Given the description of an element on the screen output the (x, y) to click on. 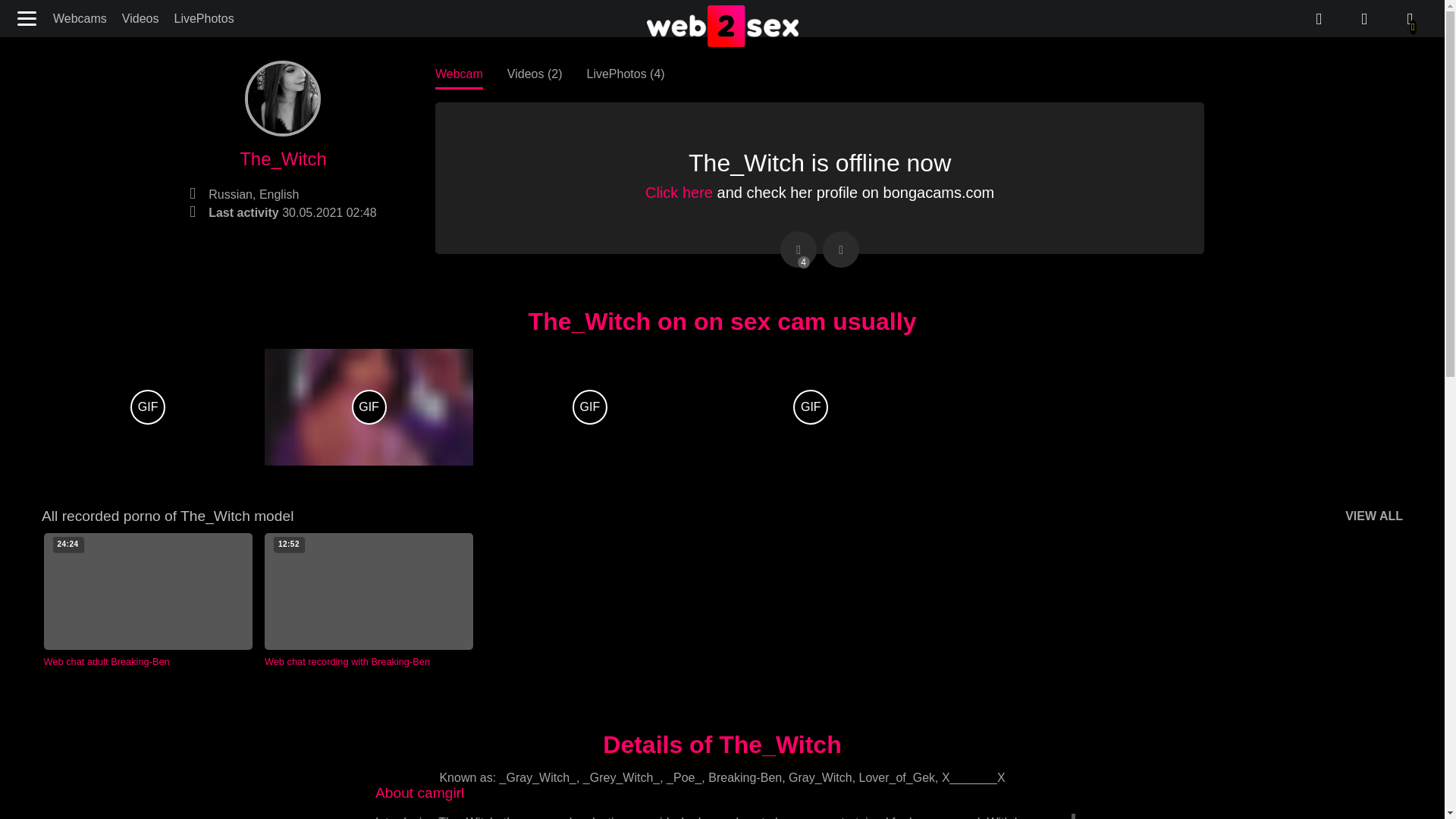
live photos (1363, 19)
favorite (840, 248)
profile (1409, 19)
web2sex.com Sex Chat and Live XXX Porn Shows (721, 26)
Videos (141, 18)
Web chat adult Breaking-Ben (147, 600)
4 (798, 248)
VIEW ALL (1374, 515)
Web chat adult Breaking-Ben (147, 600)
Webcams (80, 18)
